Given the description of an element on the screen output the (x, y) to click on. 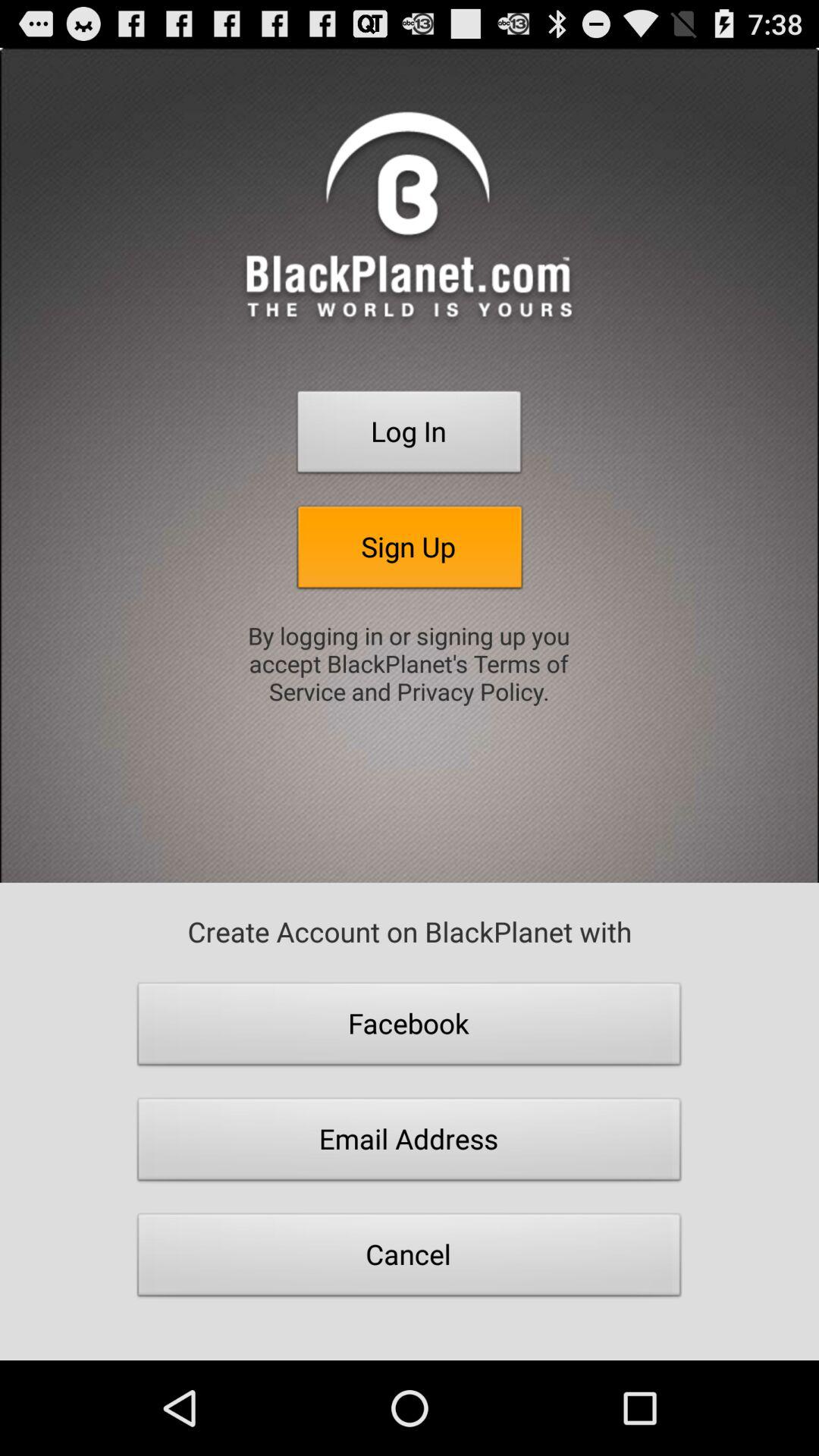
turn on the cancel icon (409, 1258)
